Given the description of an element on the screen output the (x, y) to click on. 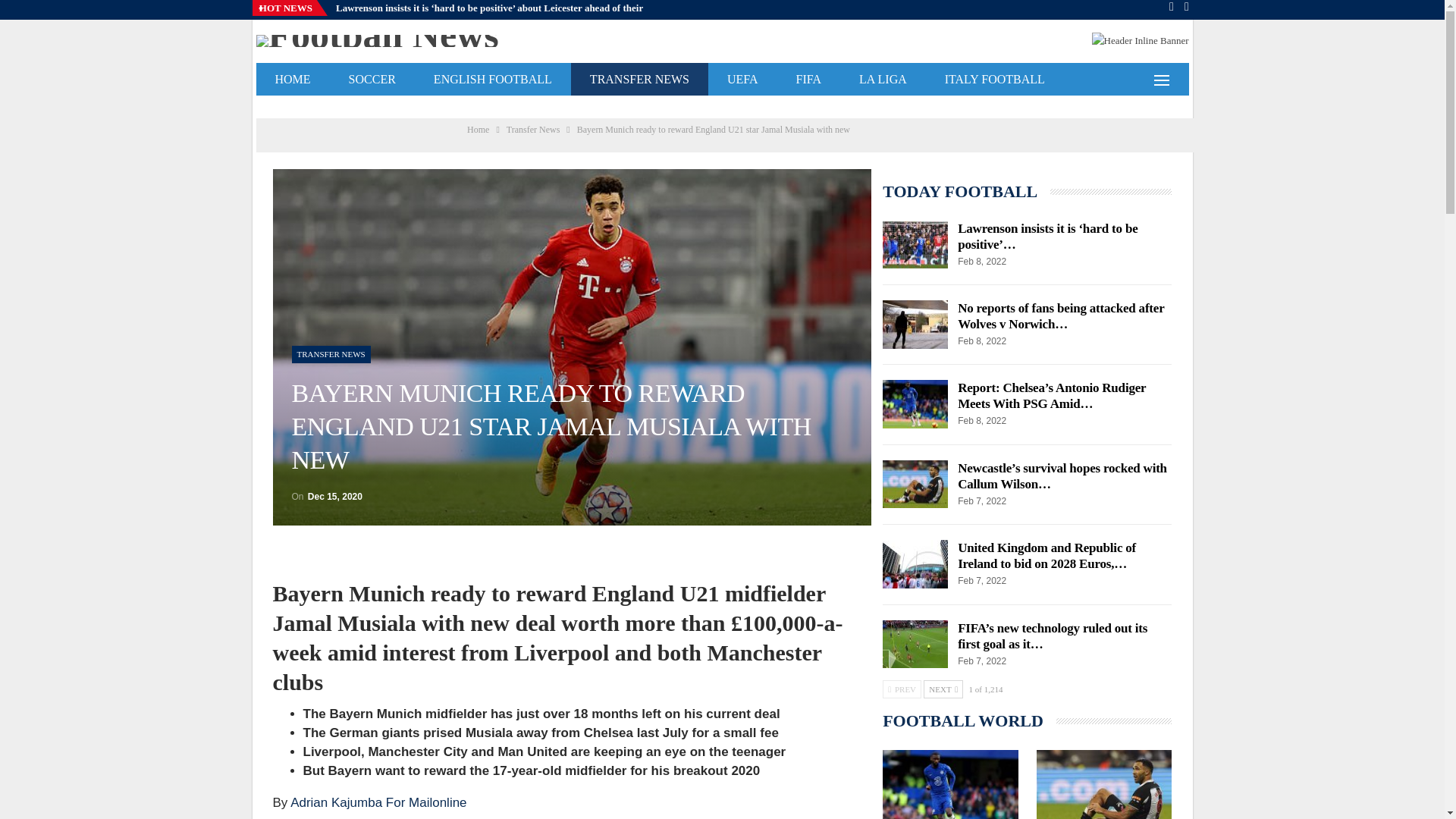
SOCCER (372, 79)
HOME (293, 79)
